Given the description of an element on the screen output the (x, y) to click on. 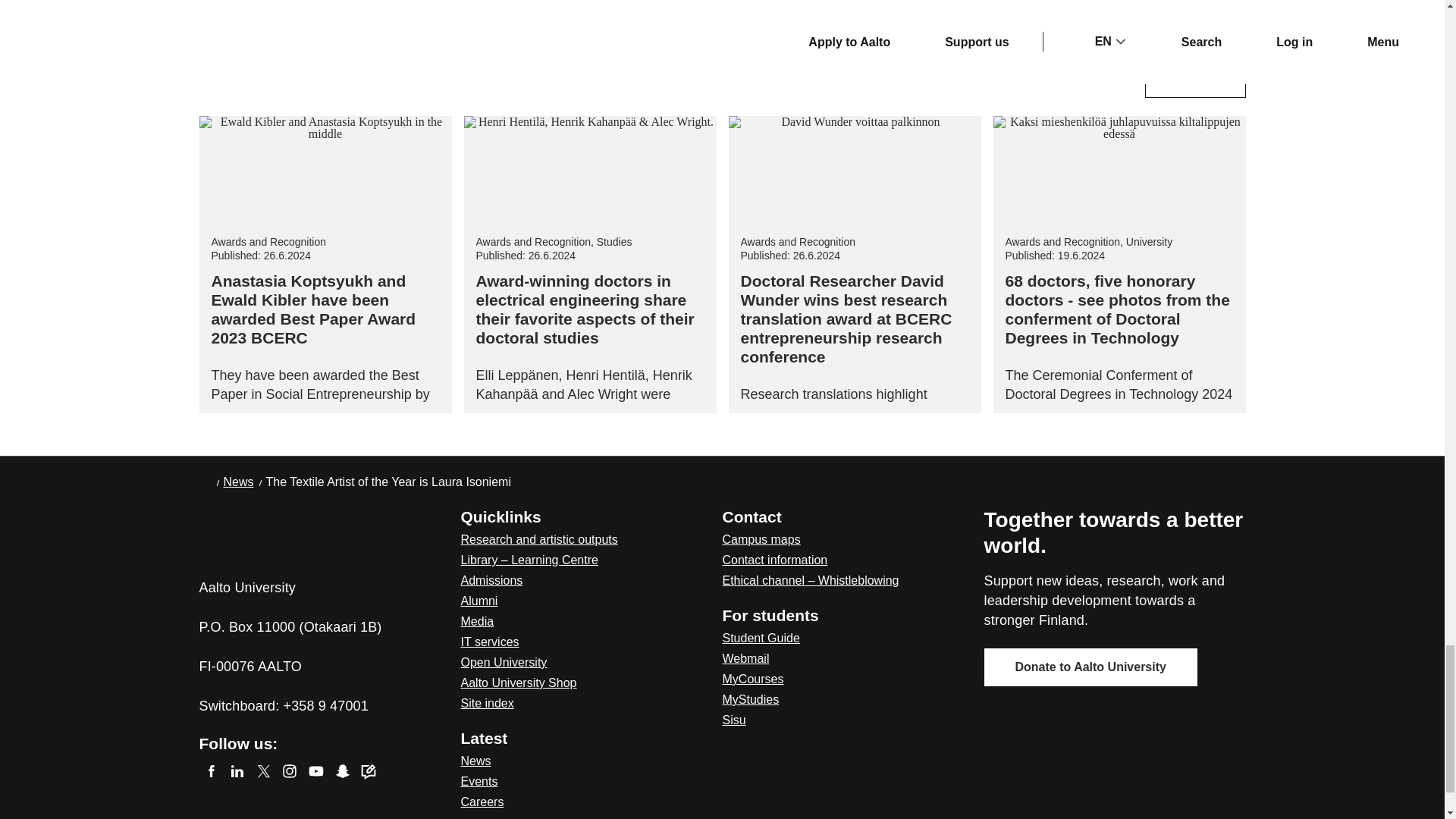
Home (235, 532)
News (237, 481)
